Given the description of an element on the screen output the (x, y) to click on. 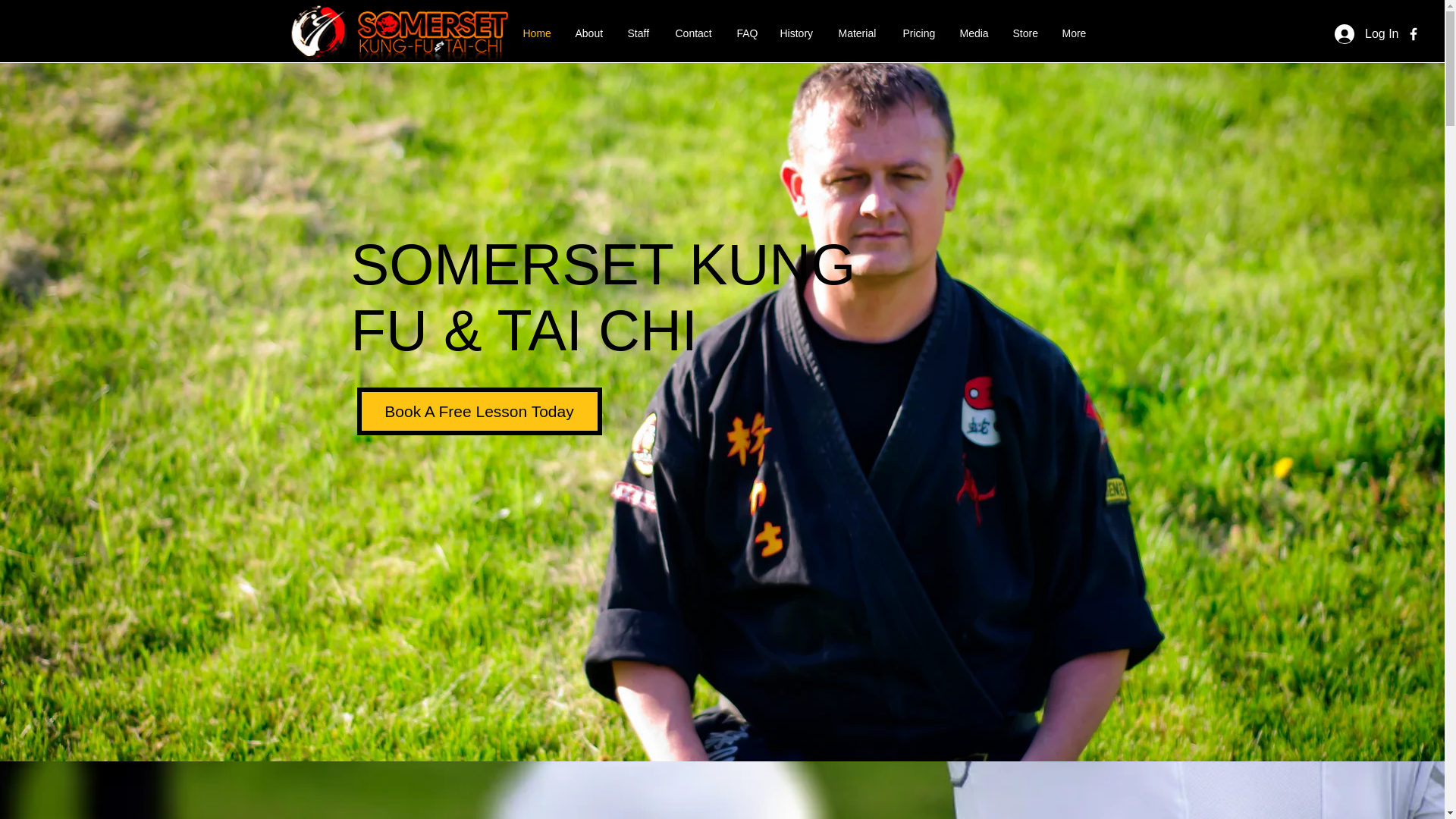
Staff (639, 33)
Book A Free Lesson Today (478, 410)
History (797, 33)
Contact (694, 33)
About (589, 33)
FAQ (746, 33)
Material (859, 33)
Media (974, 33)
Pricing (920, 33)
Log In (1346, 33)
